Given the description of an element on the screen output the (x, y) to click on. 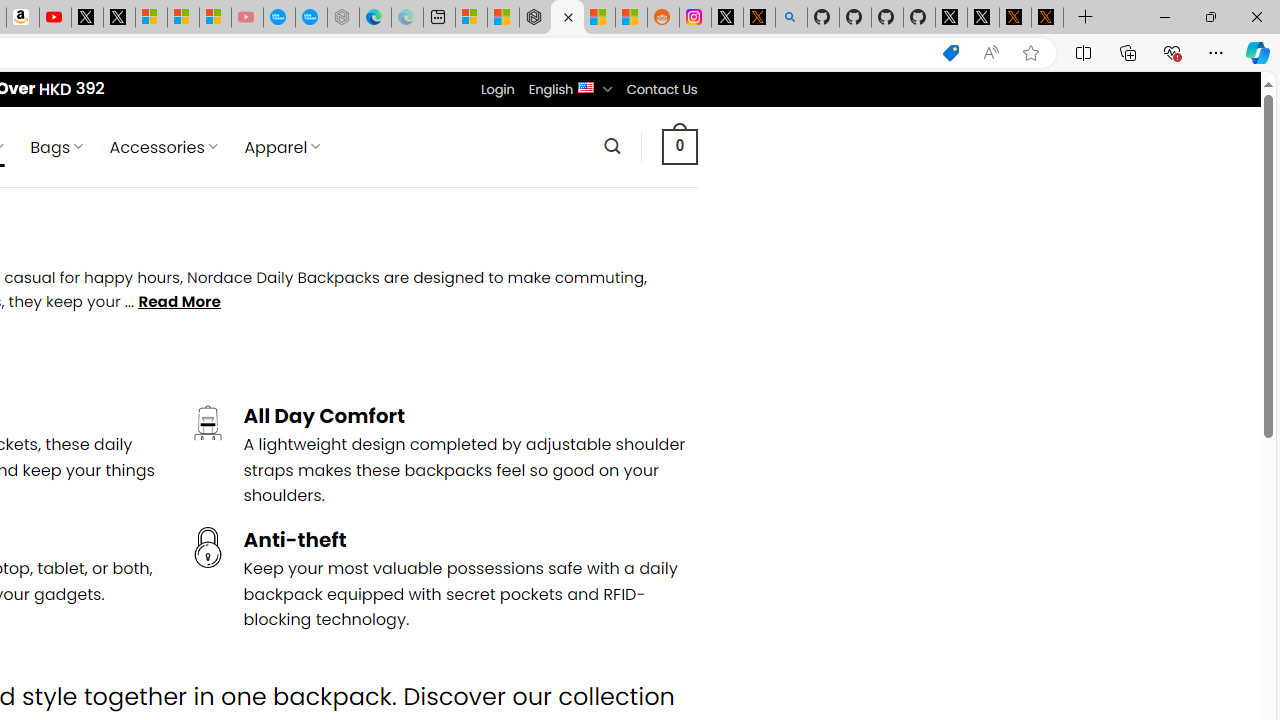
GitHub (@github) / X (983, 17)
Read More (179, 301)
Microsoft account | Microsoft Account Privacy Settings (471, 17)
